Given the description of an element on the screen output the (x, y) to click on. 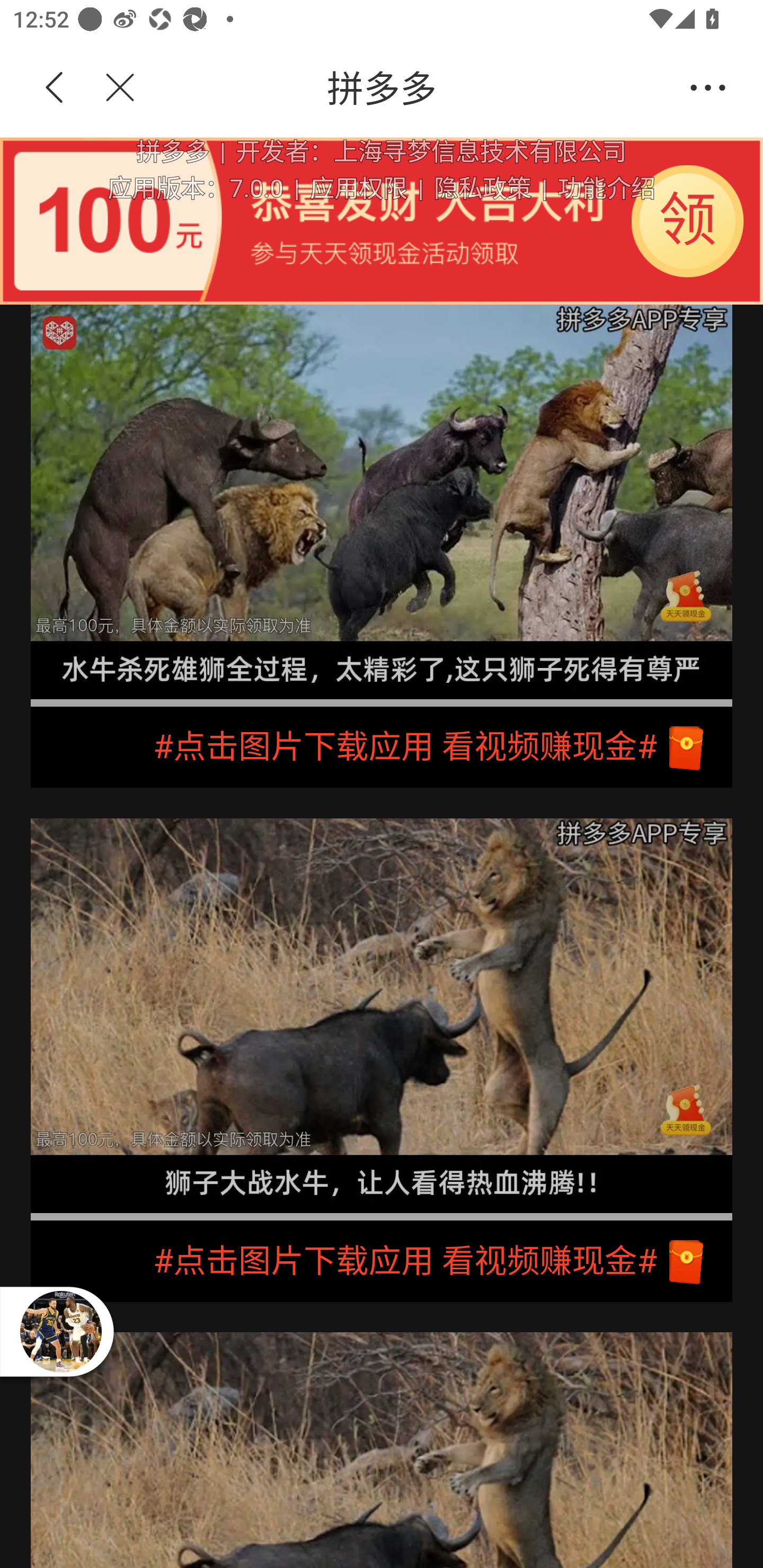
 (109, 87)
拼多多 (411, 87)
 返回 (54, 87)
 更多 (707, 87)
#点击图片下载应用 看视频赚现金# (381, 746)
#点击图片下载应用 看视频赚现金# (381, 1261)
播放器 (60, 1331)
